Given the description of an element on the screen output the (x, y) to click on. 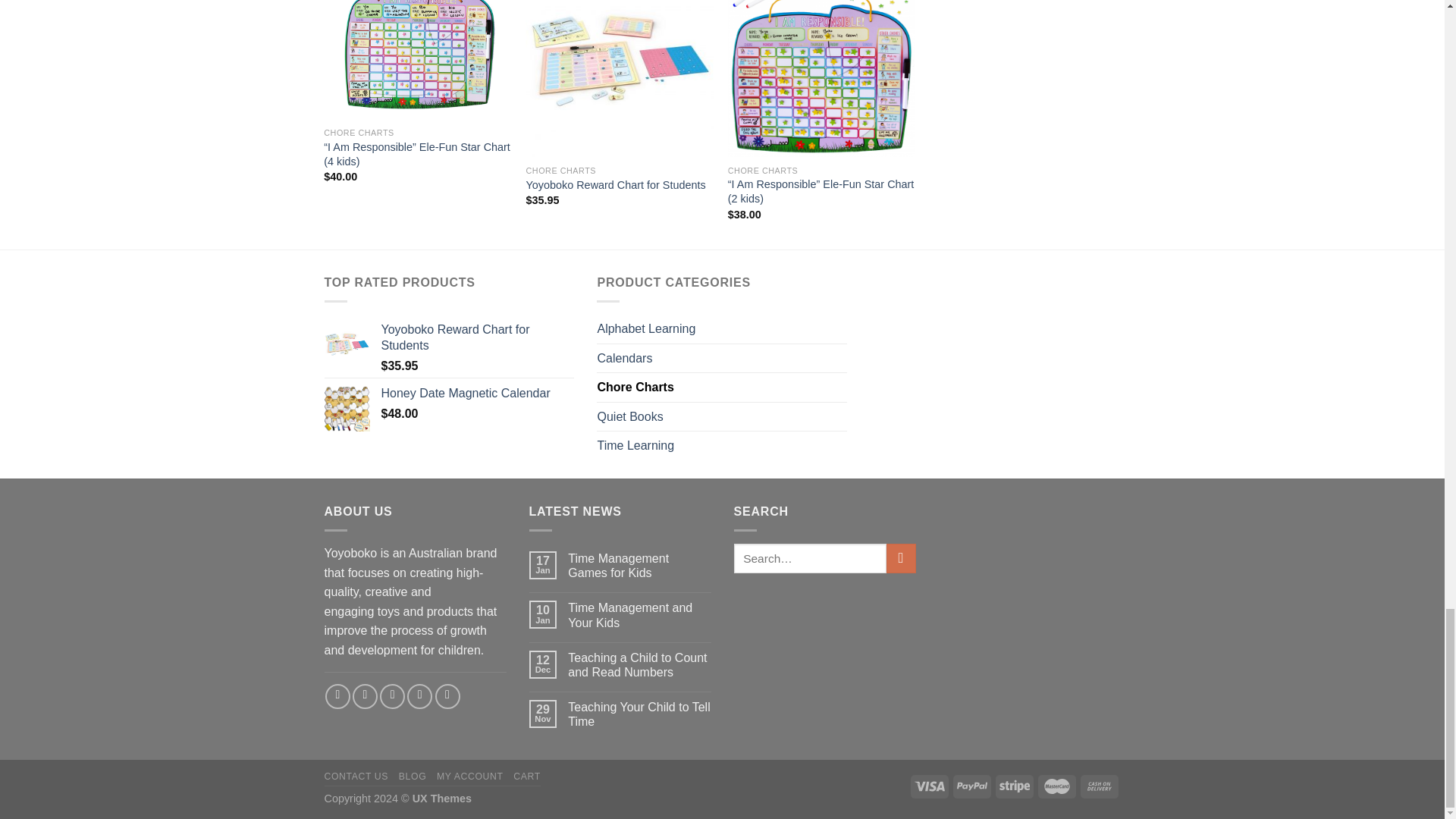
Time Management Games for Kids (638, 565)
Good Behaviour and Responsibility Chart for Up To 4 Kids (417, 59)
AMZ2 (821, 79)
School chart image 2 - thumbnail (619, 79)
